Given the description of an element on the screen output the (x, y) to click on. 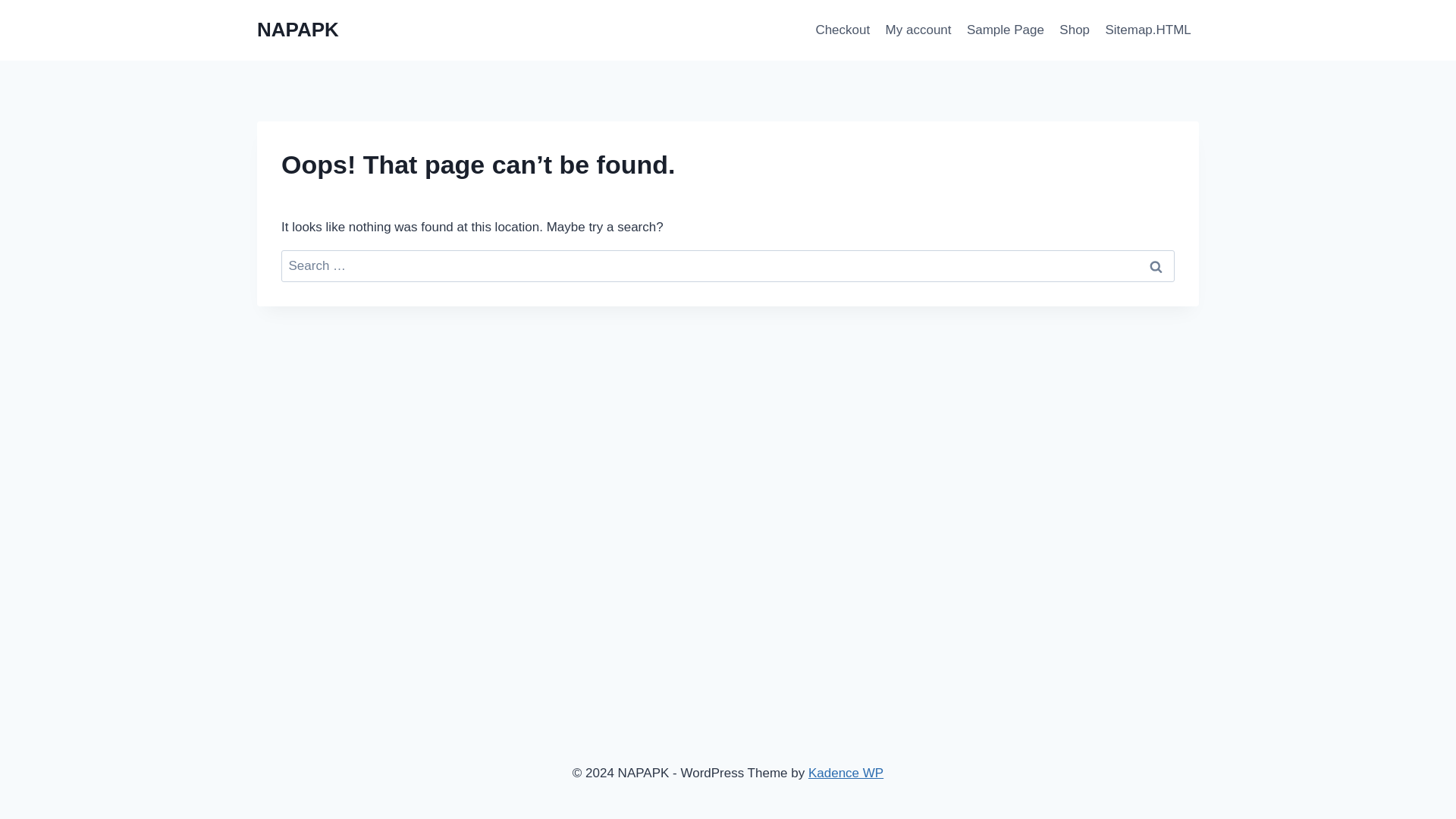
Search (1155, 266)
Sitemap.HTML (1147, 30)
Kadence WP (845, 772)
Shop (1074, 30)
NAPAPK (298, 29)
Search (1155, 266)
My account (917, 30)
Checkout (842, 30)
Sample Page (1005, 30)
Search (1155, 266)
